Given the description of an element on the screen output the (x, y) to click on. 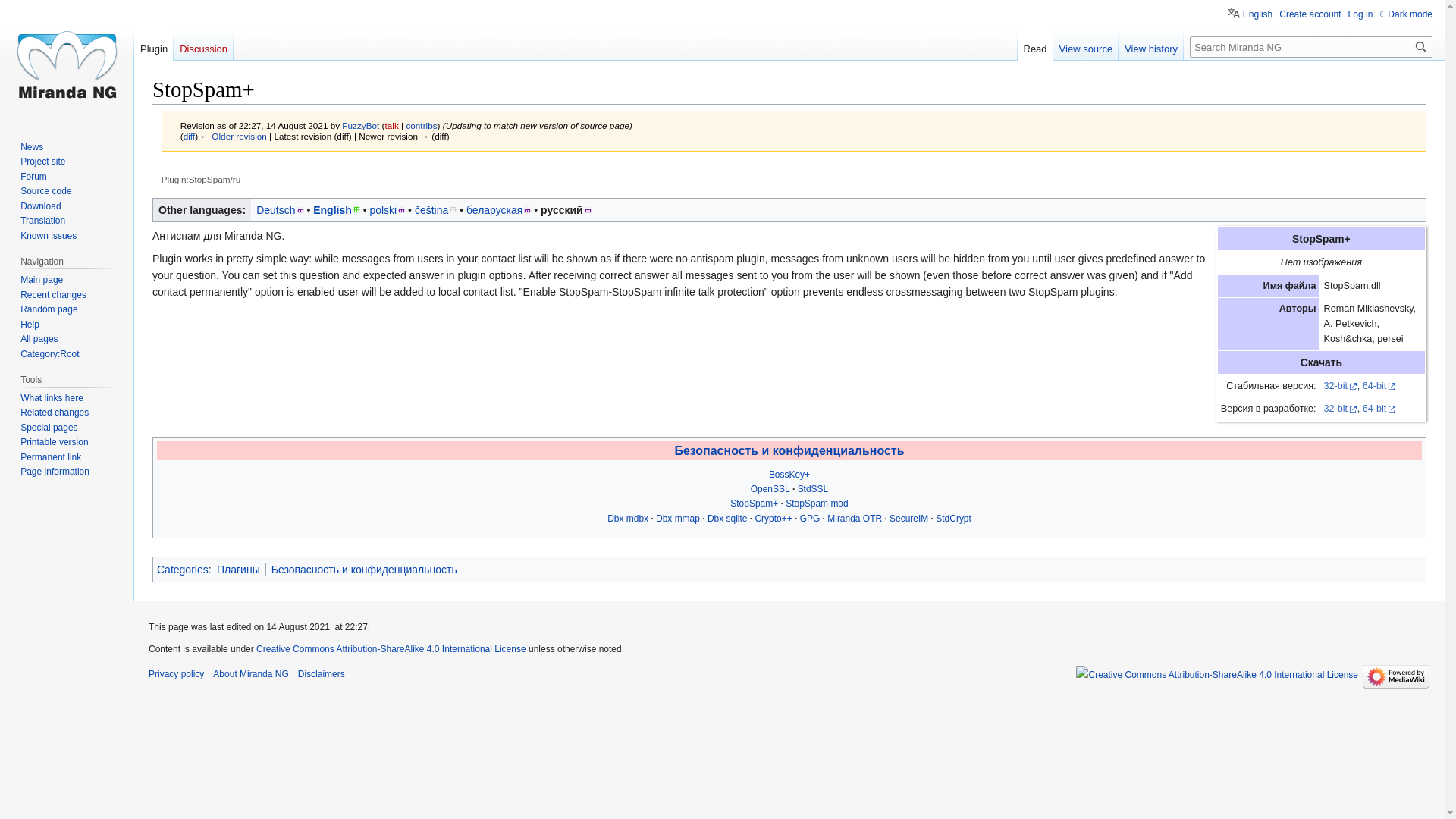
English (336, 209)
SecureIM (908, 518)
English (1249, 11)
Create account (1309, 14)
Search (1420, 46)
Dark mode (1405, 14)
StopSpam mod (817, 502)
StdCrypt (953, 518)
32-bit (1339, 408)
Go (1420, 46)
OpenSSL (770, 489)
User:FuzzyBot (360, 125)
Miranda OTR (854, 518)
Dbx mdbx (627, 518)
